Given the description of an element on the screen output the (x, y) to click on. 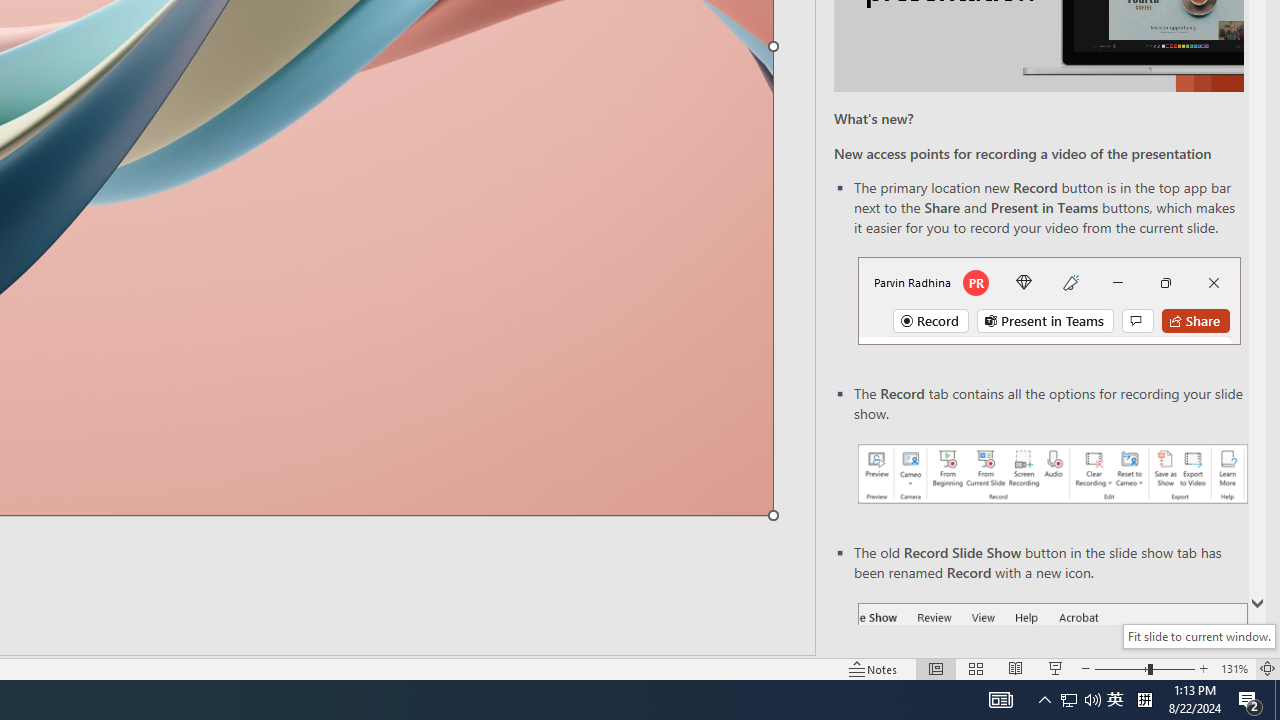
Record button in top bar (1049, 300)
Fit slide to current window. (1199, 636)
Record your presentations screenshot one (1052, 473)
Zoom 131% (1234, 668)
